Given the description of an element on the screen output the (x, y) to click on. 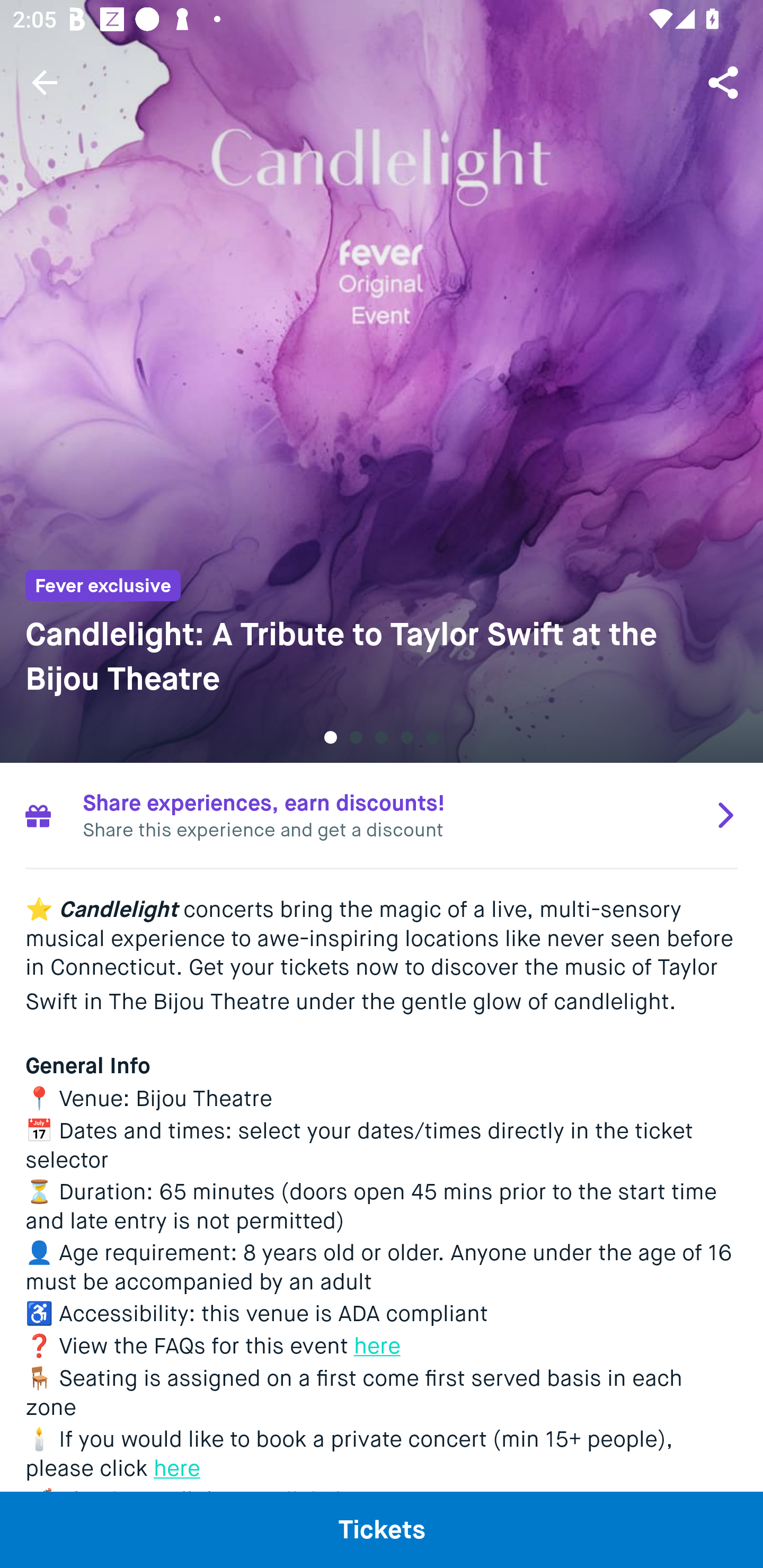
Navigate up (44, 82)
Share (724, 81)
Tickets (381, 1529)
